Given the description of an element on the screen output the (x, y) to click on. 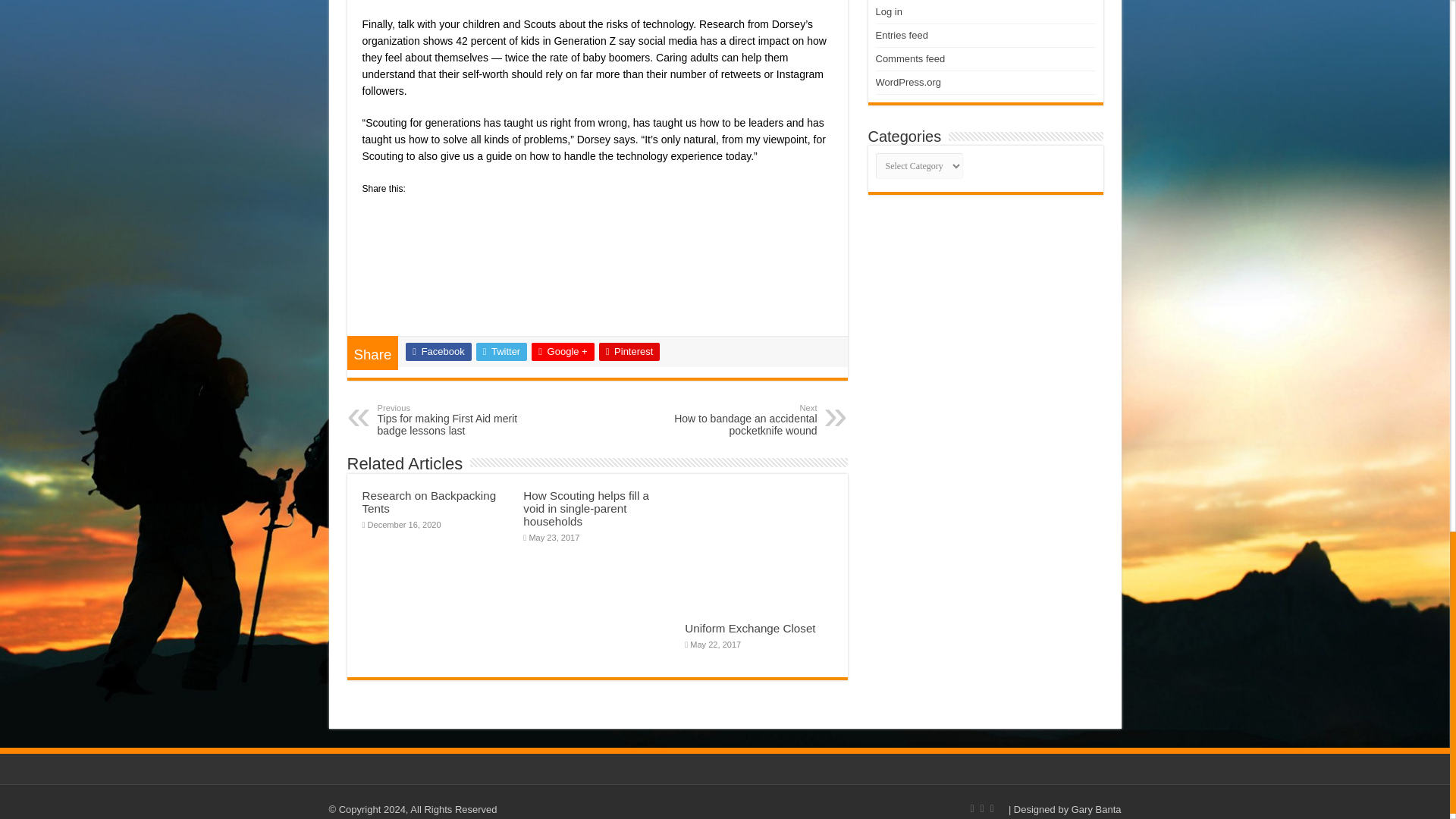
How Scouting helps fill a void in single-parent households (585, 507)
Pinterest (629, 352)
Twitter (501, 352)
Research on Backpacking Tents (429, 501)
Facebook (738, 419)
